Given the description of an element on the screen output the (x, y) to click on. 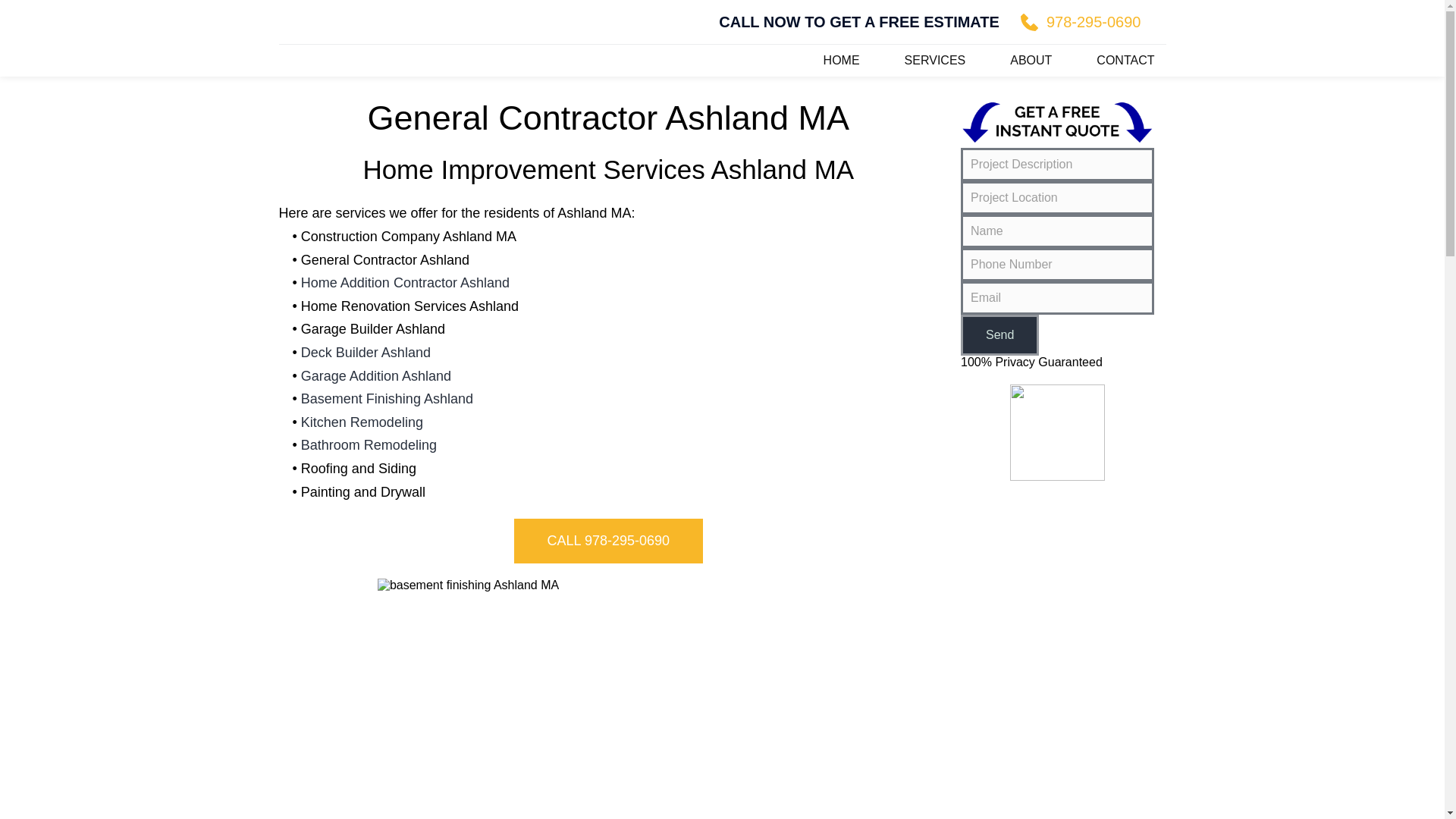
978-295-0690 (1080, 22)
SERVICES (935, 60)
Send (999, 334)
ABOUT (1030, 60)
HOME (841, 60)
CONTACT (1125, 60)
